Given the description of an element on the screen output the (x, y) to click on. 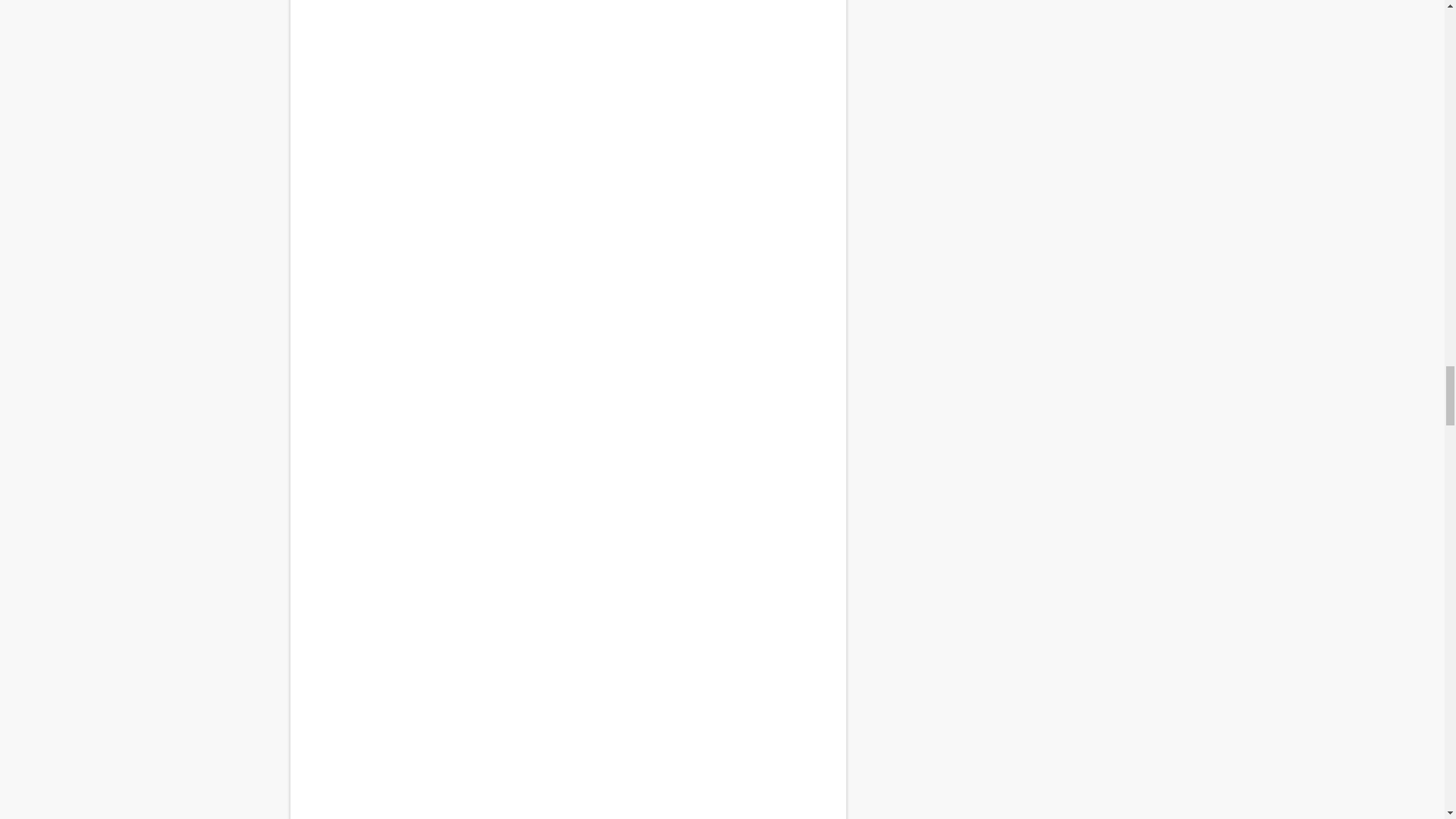
Fill in the blanks (567, 82)
Topic Wise Words (567, 640)
